Given the description of an element on the screen output the (x, y) to click on. 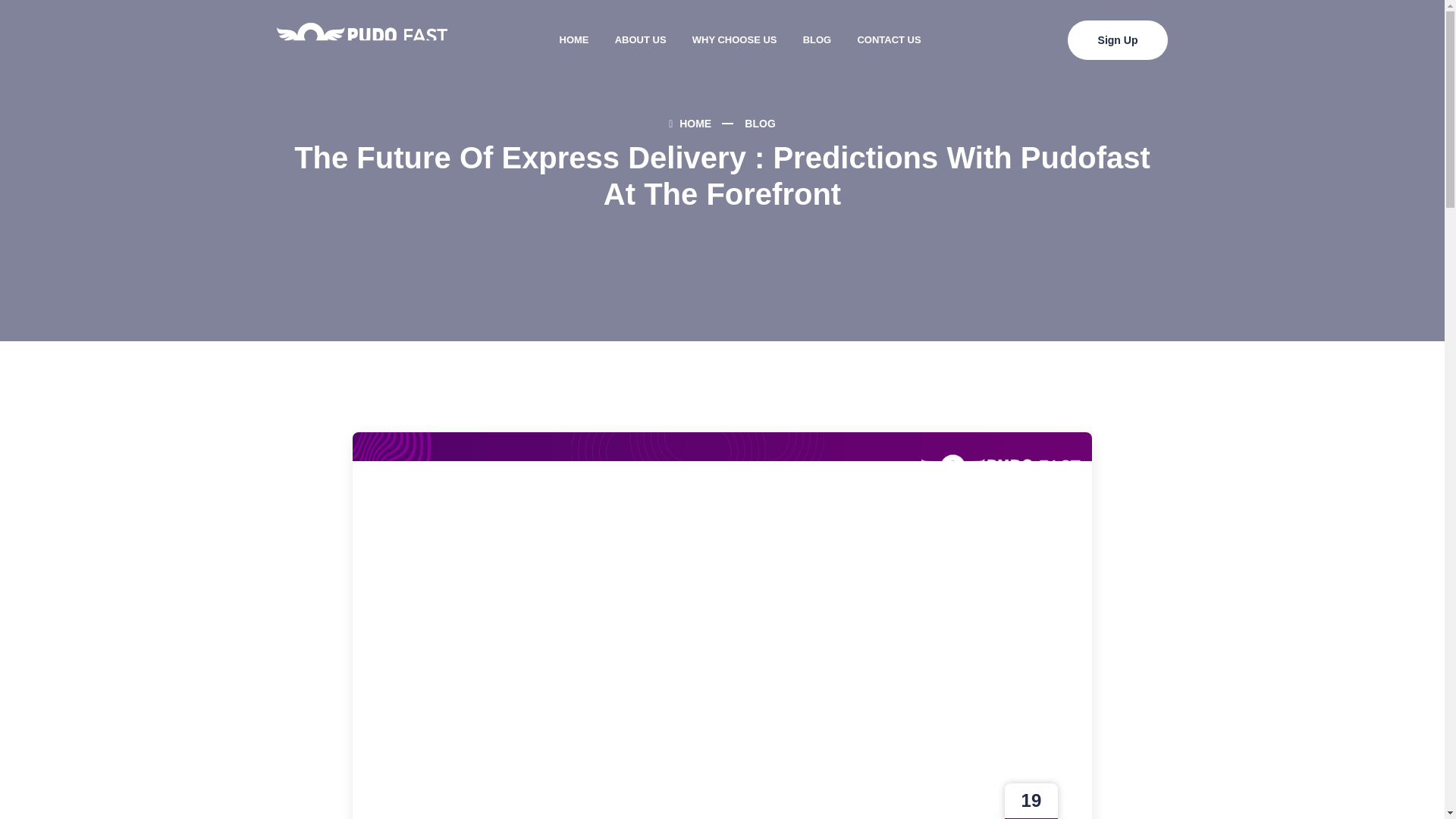
BLOG (759, 123)
WHY CHOOSE US (735, 39)
HOME (689, 123)
CONTACT US (888, 39)
Sign Up (1118, 39)
ABOUT US (641, 39)
